Given the description of an element on the screen output the (x, y) to click on. 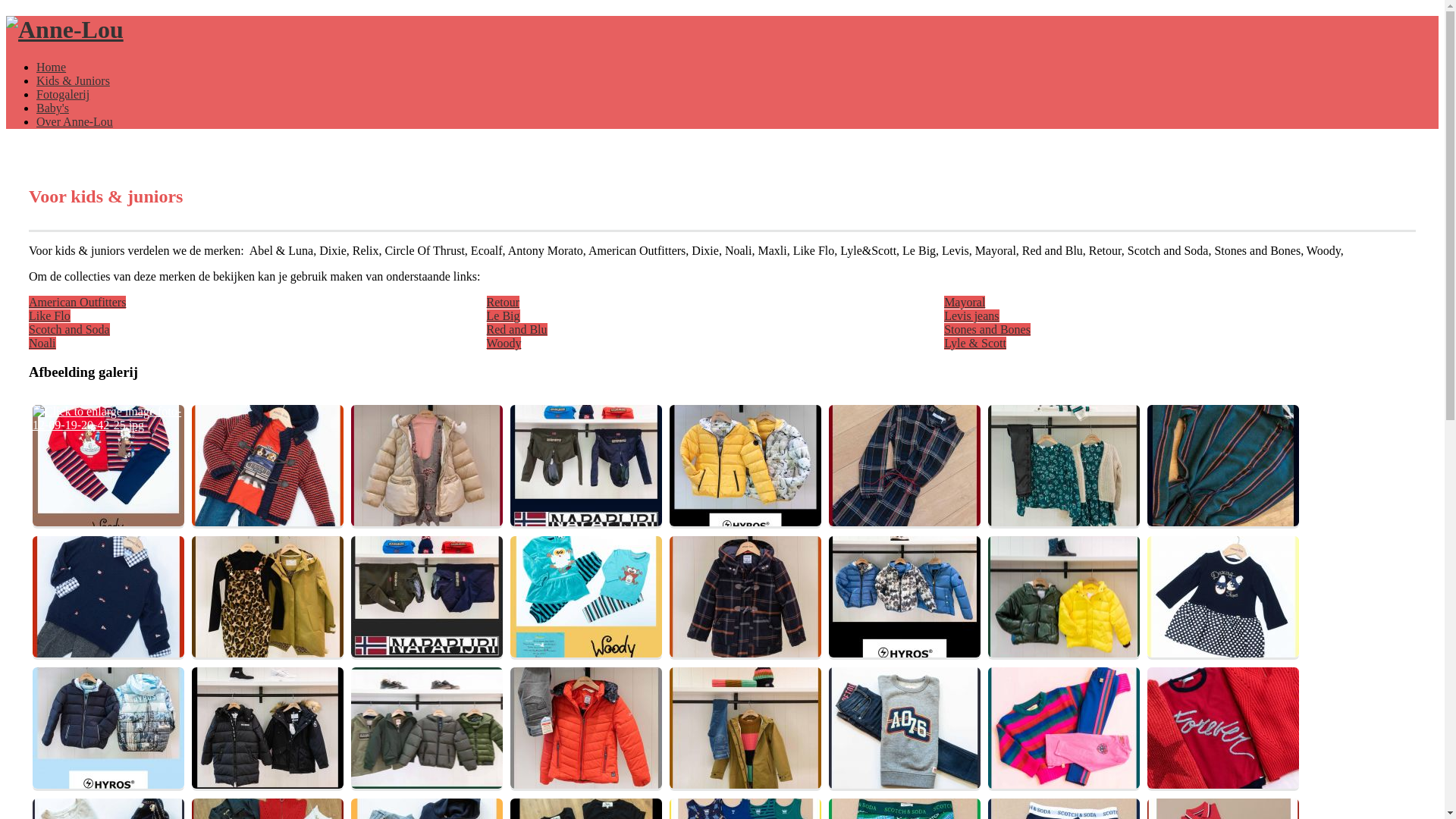
Click to enlarge image foto-12-09-19-20-42-26-13.jpg Element type: hover (904, 465)
Retour Element type: text (503, 301)
Red and Blu Element type: text (516, 329)
Home Element type: text (50, 66)
Click to enlarge image foto-12-09-19-20-42-26-7.jpg Element type: hover (267, 727)
Like Flo Element type: text (49, 315)
Click to enlarge image foto-12-09-19-20-42-26-11.jpg Element type: hover (586, 465)
Woody Element type: text (503, 342)
Click to enlarge image foto-12-09-19-20-42-25.jpg Element type: hover (108, 465)
American Outfitters Element type: text (76, 301)
Scotch and Soda Element type: text (68, 329)
Fotogalerij Element type: text (62, 93)
Click to enlarge image foto-12-09-19-20-42-26-15.jpg Element type: hover (1223, 465)
Click to enlarge image foto-12-09-19-20-42-26-20.jpg Element type: hover (745, 596)
Kids & Juniors Element type: text (72, 80)
Click to enlarge image foto-12-09-19-20-42-26-10.jpg Element type: hover (426, 465)
Click to enlarge image foto-12-09-19-20-42-26-8.jpg Element type: hover (426, 727)
Baby's Element type: text (52, 107)
Lyle & Scott Element type: text (975, 342)
Over Anne-Lou Element type: text (74, 121)
Click to enlarge image foto-12-09-19-20-42-26-12.jpg Element type: hover (745, 465)
Click to enlarge image foto-12-09-19-20-42-26-14.jpg Element type: hover (1063, 465)
Stones and Bones Element type: text (987, 329)
Click to enlarge image foto-12-09-19-20-42-26-2.jpg Element type: hover (586, 596)
Click to enlarge image foto-26-09-19-21-00-17-3.jpg Element type: hover (1063, 727)
Click to enlarge image foto-26-09-19-21-00-17-10.jpg Element type: hover (904, 727)
Click to enlarge image foto-12-09-19-20-42-26-6.jpg Element type: hover (108, 727)
Le Big Element type: text (503, 315)
Click to enlarge image foto-12-09-19-20-42-26.jpg Element type: hover (745, 727)
Levis jeans Element type: text (971, 315)
Noali Element type: text (42, 342)
Click to enlarge image foto-26-09-19-21-00-17-5.jpg Element type: hover (1223, 727)
Click to enlarge image foto-12-09-19-20-42-26-19.jpg Element type: hover (426, 596)
Click to enlarge image foto-12-09-19-20-42-26-5.jpg Element type: hover (1223, 596)
Click to enlarge image foto-12-09-19-20-42-26-18.jpg Element type: hover (267, 596)
Click to enlarge image foto-12-09-19-20-42-26-4.jpg Element type: hover (1063, 596)
Click to enlarge image foto-12-09-19-20-42-26-16.jpg Element type: hover (108, 596)
Mayoral Element type: text (964, 301)
Click to enlarge image foto-12-09-19-20-42-26-3.jpg Element type: hover (904, 596)
Click to enlarge image foto-12-09-19-20-42-26-1.jpg Element type: hover (267, 465)
Click to enlarge image foto-12-09-19-20-42-26-9.jpg Element type: hover (586, 727)
